Given the description of an element on the screen output the (x, y) to click on. 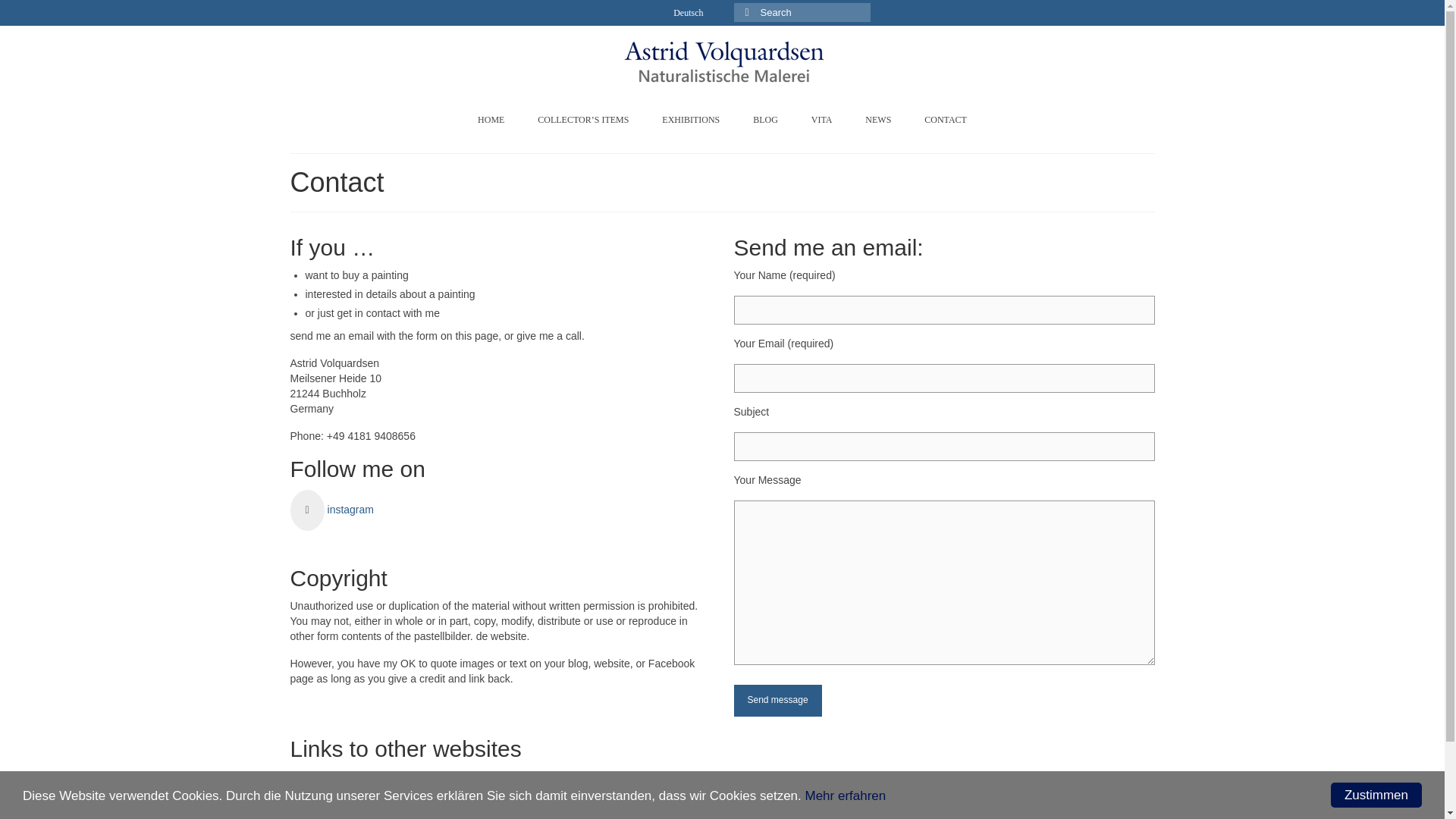
BLOG (765, 119)
HOME (491, 119)
instagram (330, 509)
CONTACT (944, 119)
NEWS (877, 119)
Deutsch (687, 12)
VITA (821, 119)
Send message (777, 699)
Send message (777, 699)
Astrid Volquardsen (724, 61)
EXHIBITIONS (690, 119)
